Given the description of an element on the screen output the (x, y) to click on. 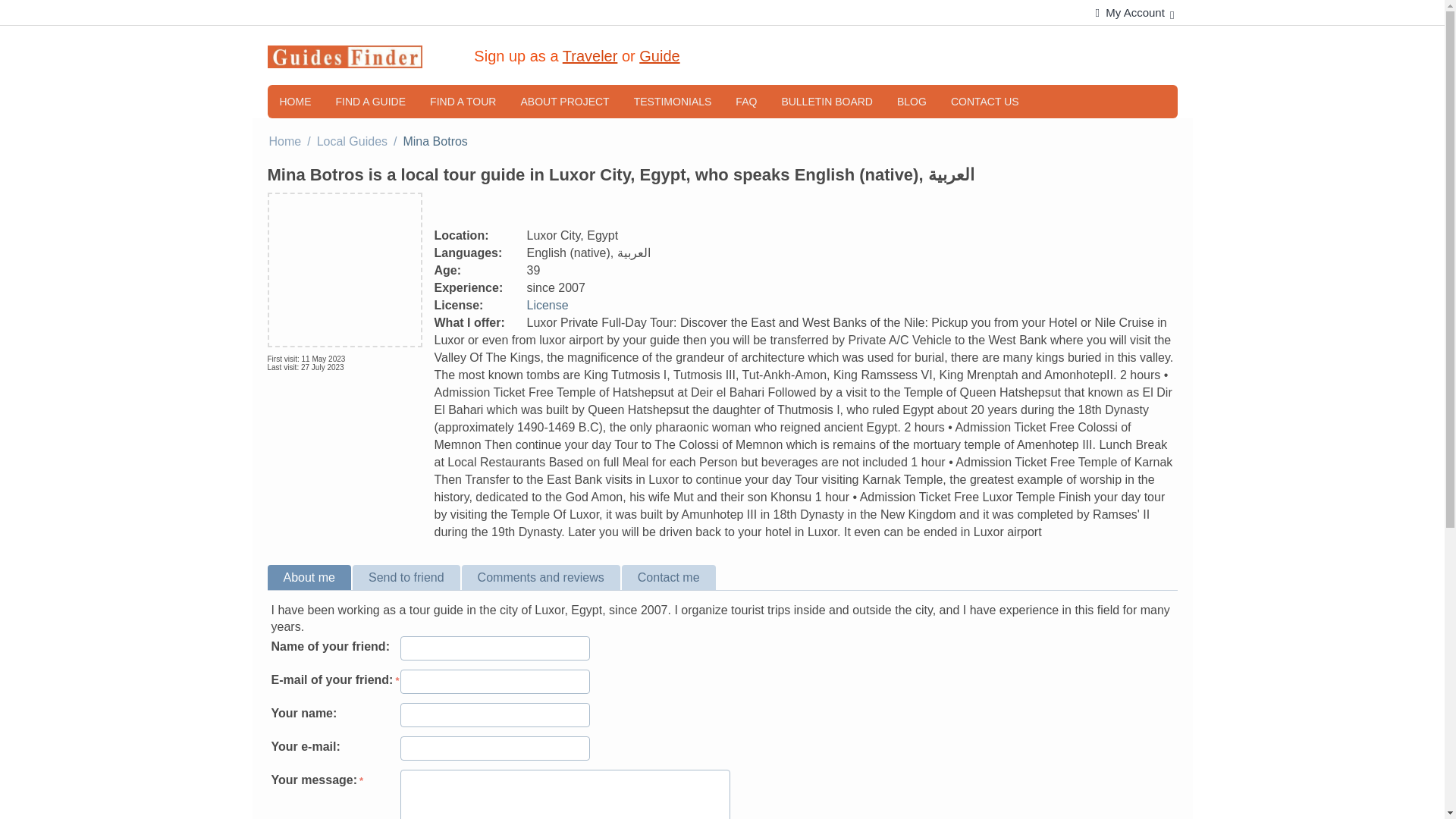
ABOUT PROJECT (564, 101)
Local Guides (351, 141)
Home (284, 141)
License (546, 305)
Comments and reviews (542, 577)
FAQ (745, 101)
FIND A GUIDE (370, 101)
GuidesFinder (344, 55)
Mina Botros (344, 269)
Send to friend (407, 577)
